Given the description of an element on the screen output the (x, y) to click on. 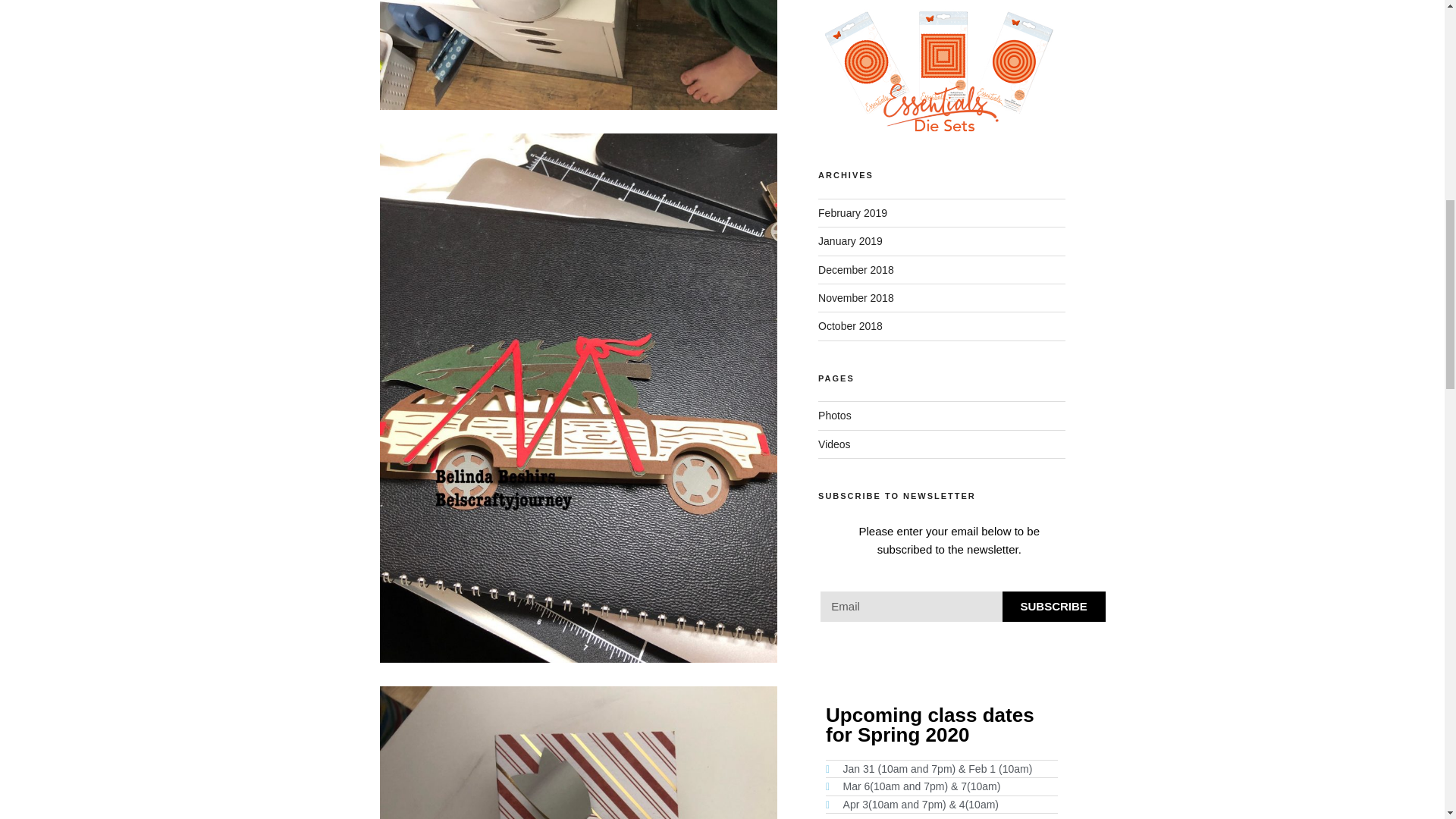
Photos (834, 415)
October 2018 (850, 326)
November 2018 (855, 297)
January 2019 (850, 241)
December 2018 (855, 269)
Videos (834, 444)
February 2019 (852, 213)
SUBSCRIBE (1054, 606)
